Given the description of an element on the screen output the (x, y) to click on. 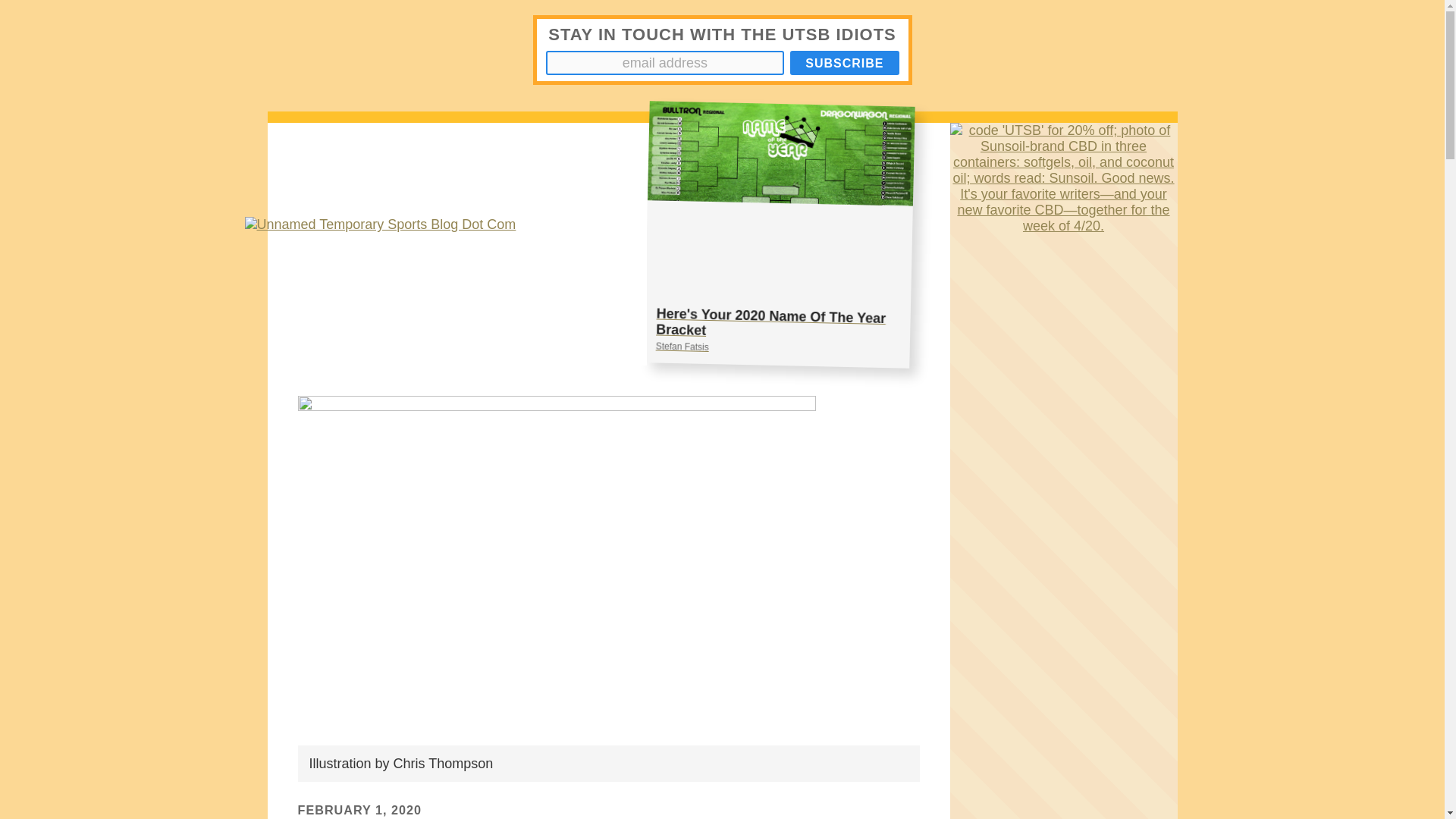
Subscribe (844, 62)
Subscribe (844, 62)
3:05 pm (359, 809)
FEBRUARY 1, 2020 (775, 231)
